Given the description of an element on the screen output the (x, y) to click on. 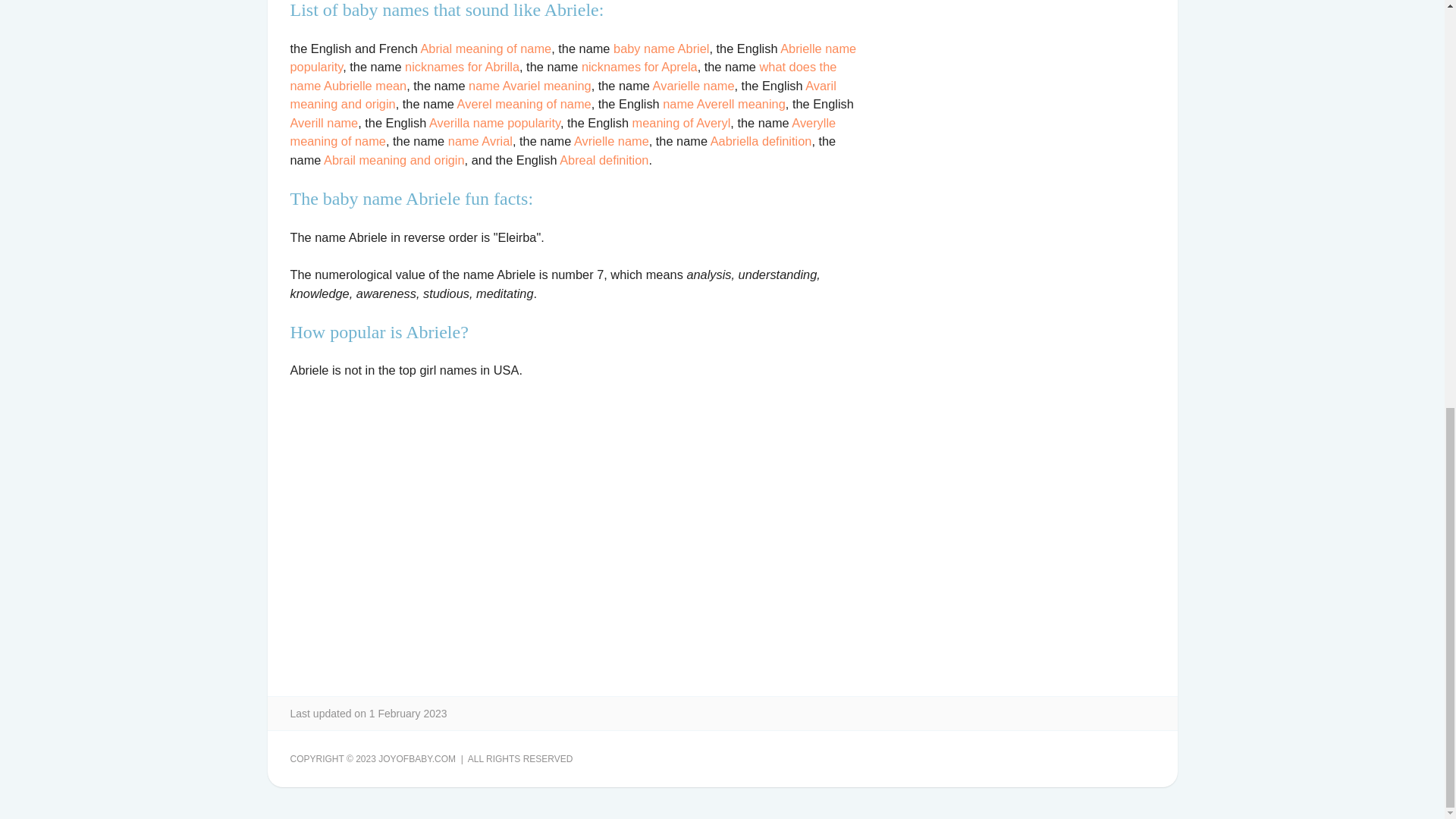
nicknames for Aprela (638, 66)
what does the name Aubrielle mean (562, 75)
Averilla name popularity (494, 122)
name Avariel meaning (529, 85)
Aabriella definition (761, 141)
name Avrial (480, 141)
Avaril meaning and origin (562, 94)
Abreal definition (603, 160)
Avrielle name (611, 141)
Abrielle name popularity (572, 57)
